Given the description of an element on the screen output the (x, y) to click on. 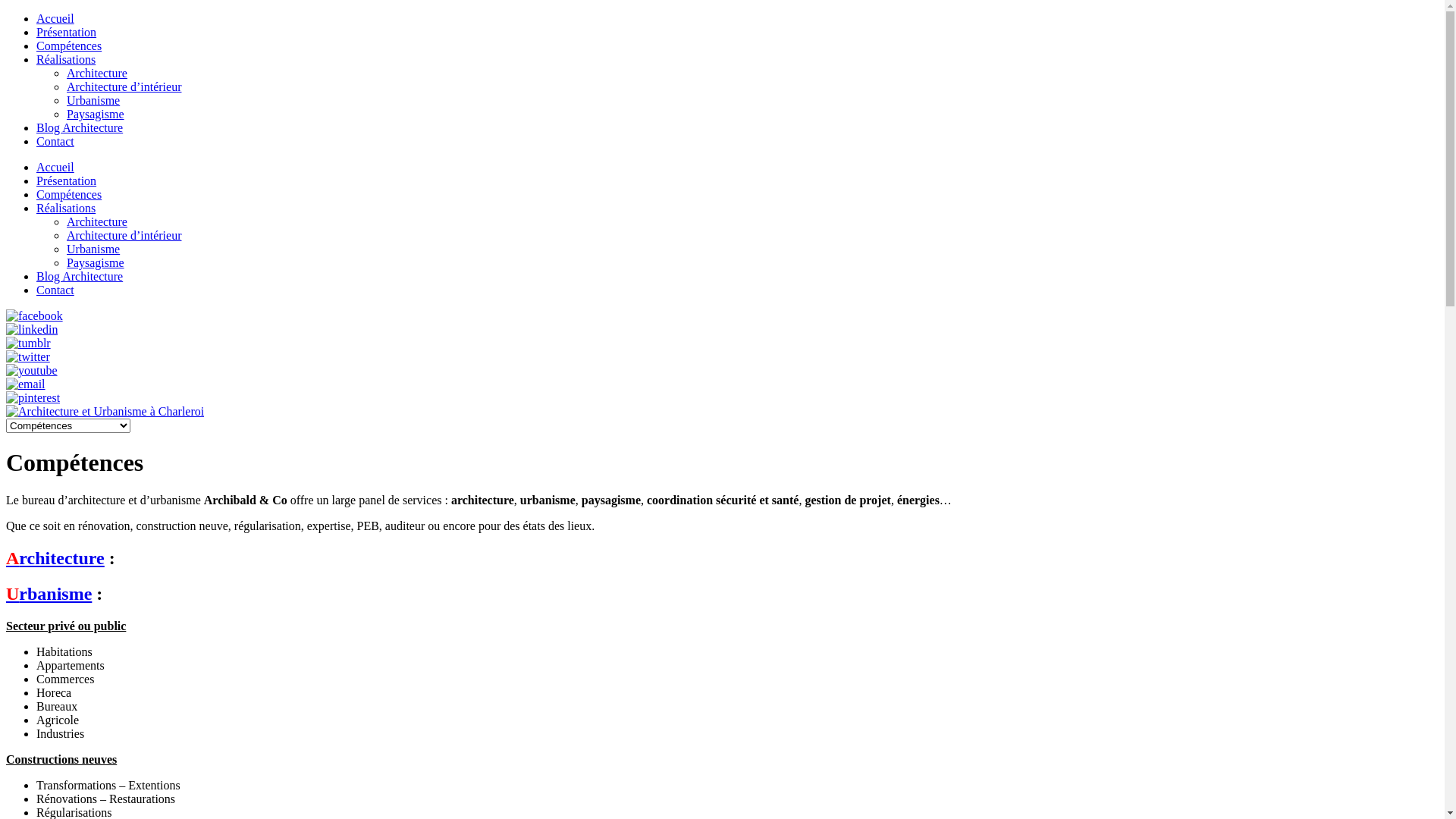
Urbanisme Element type: text (48, 593)
Blog Architecture Element type: text (79, 127)
Blog Architecture Element type: text (79, 275)
Urbanisme Element type: text (92, 248)
Paysagisme Element type: text (95, 262)
Architecture Element type: text (96, 72)
Urbanisme Element type: text (92, 100)
Contact Element type: text (55, 289)
Accueil Element type: text (55, 166)
Paysagisme Element type: text (95, 113)
Contact Element type: text (55, 140)
Accueil Element type: text (55, 18)
Architecture Element type: text (55, 557)
Architecture Element type: text (96, 221)
